Given the description of an element on the screen output the (x, y) to click on. 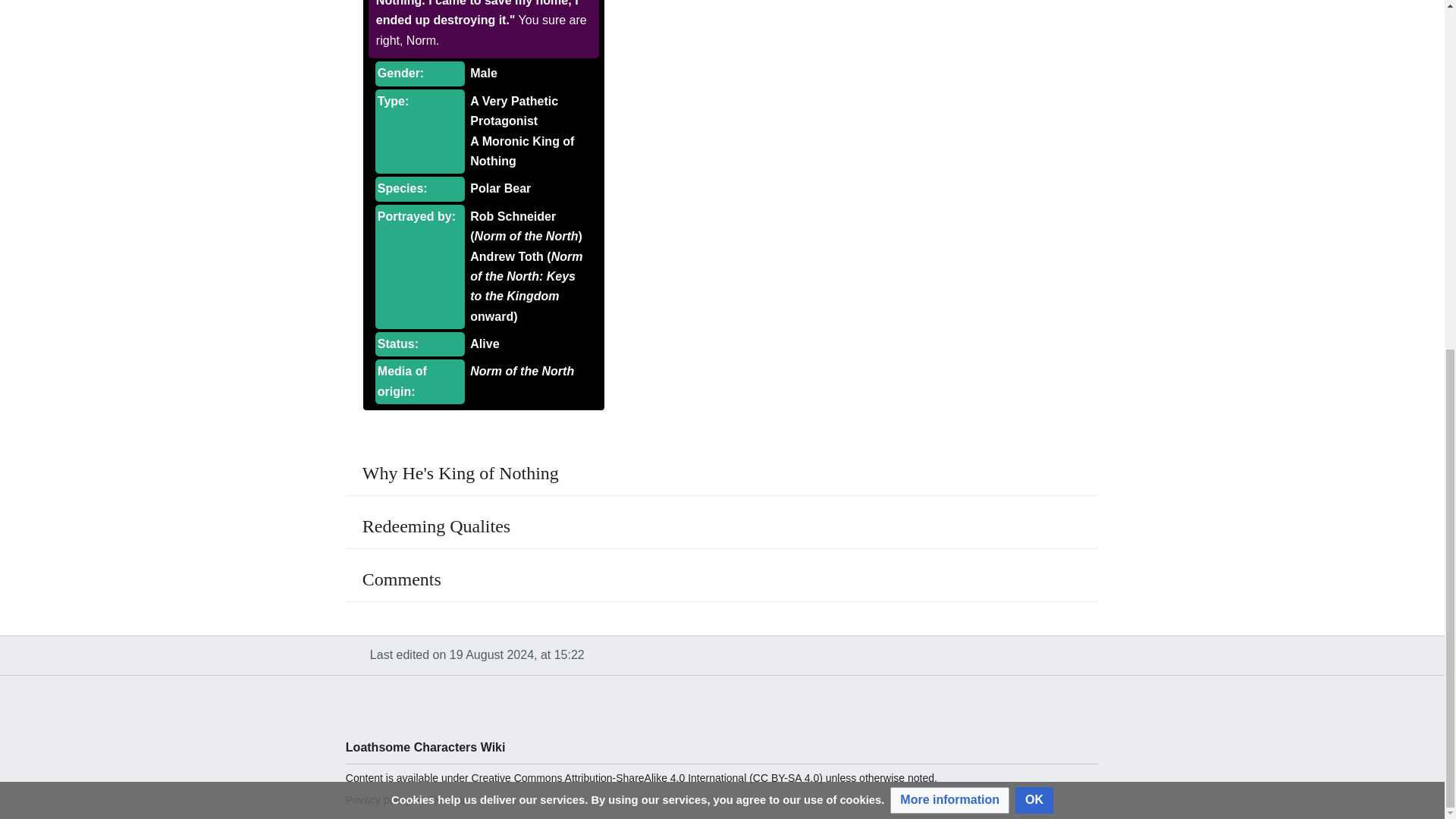
Privacy policy (378, 799)
Desktop (448, 799)
More information (949, 196)
OK (1033, 196)
